Given the description of an element on the screen output the (x, y) to click on. 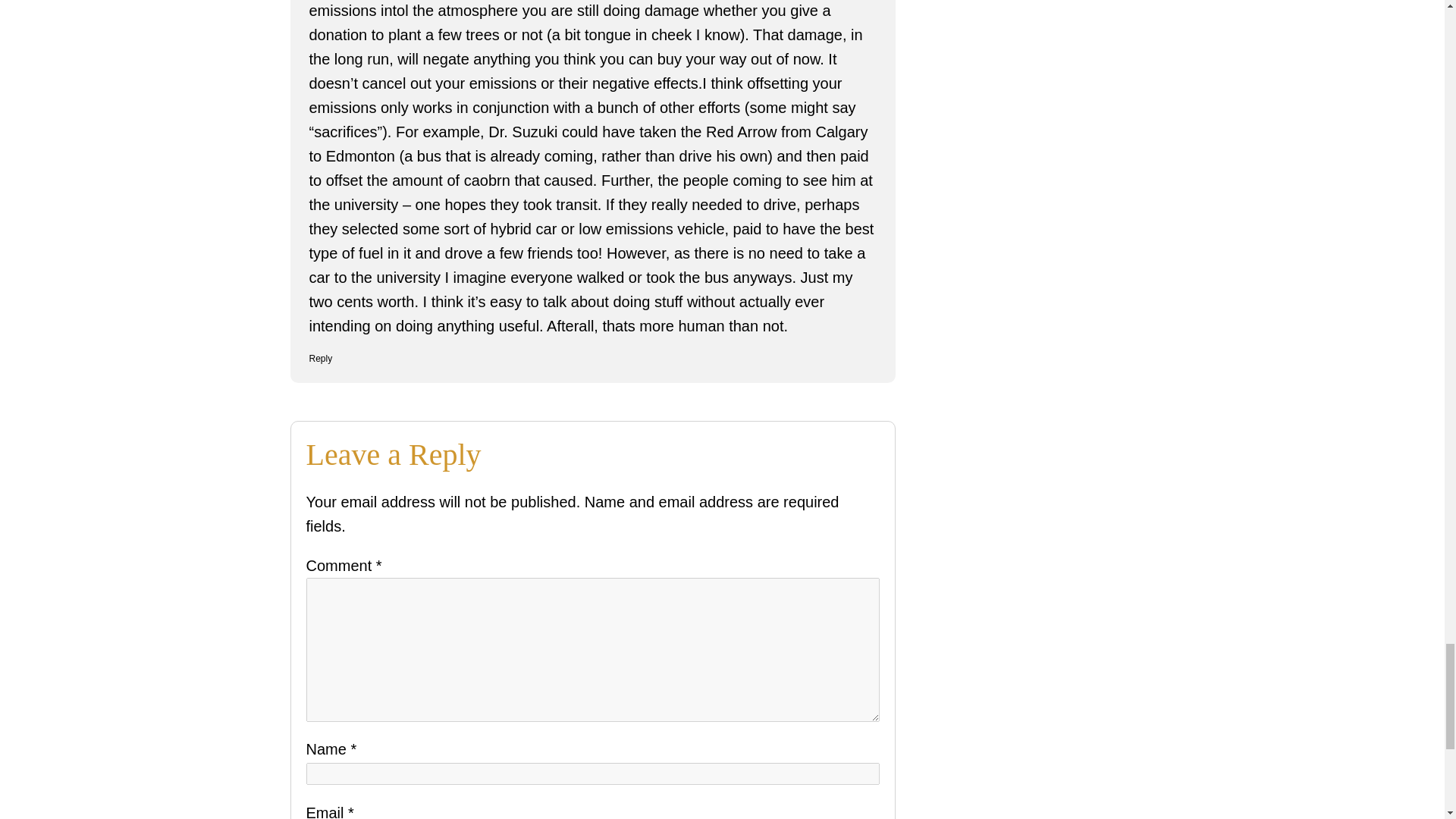
Reply (320, 357)
